Given the description of an element on the screen output the (x, y) to click on. 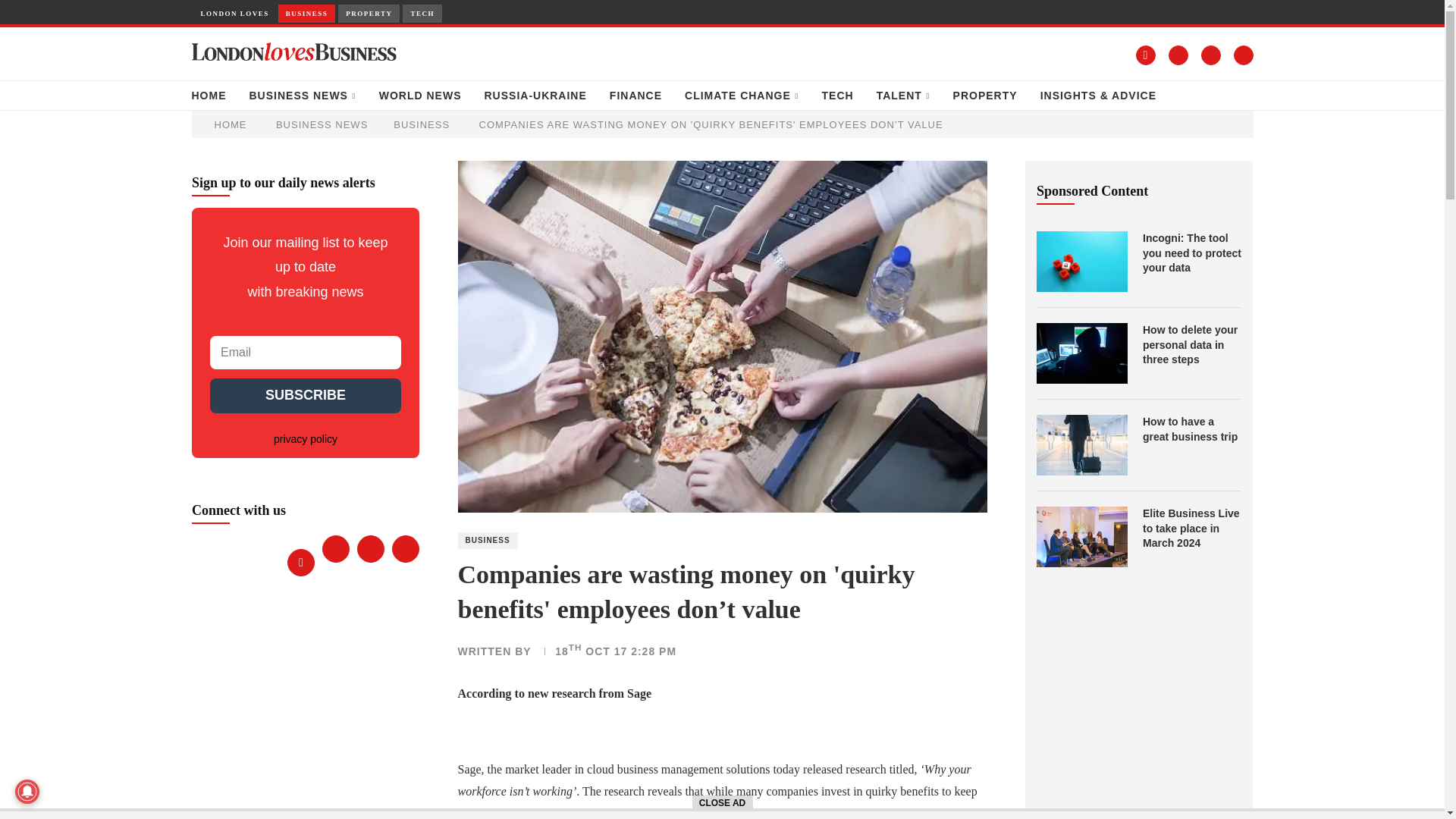
Incogni: The tool you need to protect your data (1081, 260)
Incogni: The tool you need to protect your data (1191, 253)
How to delete your personal data in three steps (1191, 344)
How to have a great business trip (1191, 429)
Elite Business Live to take place in March 2024 (1191, 528)
How to have a great business trip (1081, 444)
Elite Business Live to take place in March 2024 (1081, 536)
How to delete your personal data in three steps (1081, 353)
